Given the description of an element on the screen output the (x, y) to click on. 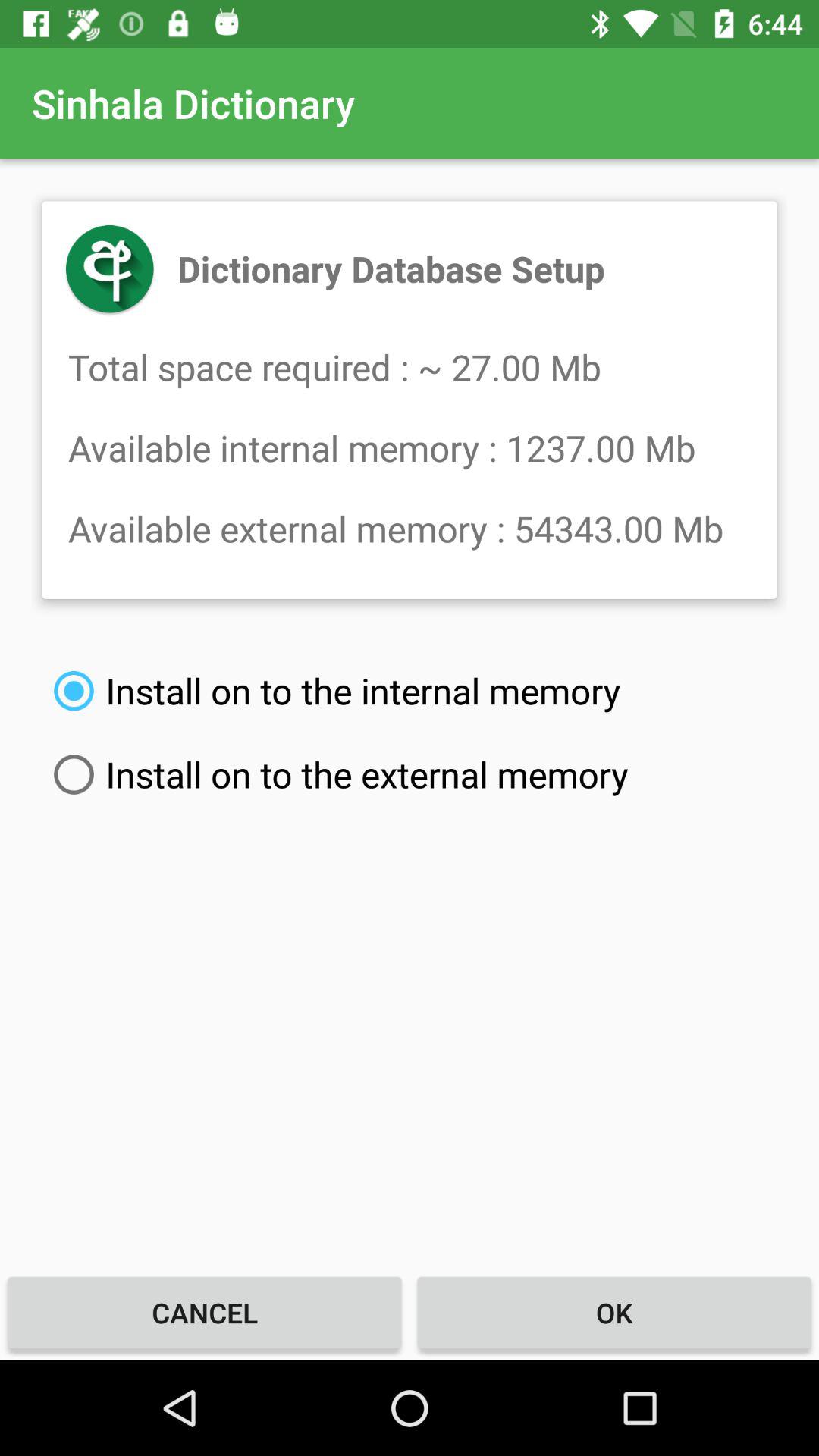
click cancel item (204, 1312)
